Given the description of an element on the screen output the (x, y) to click on. 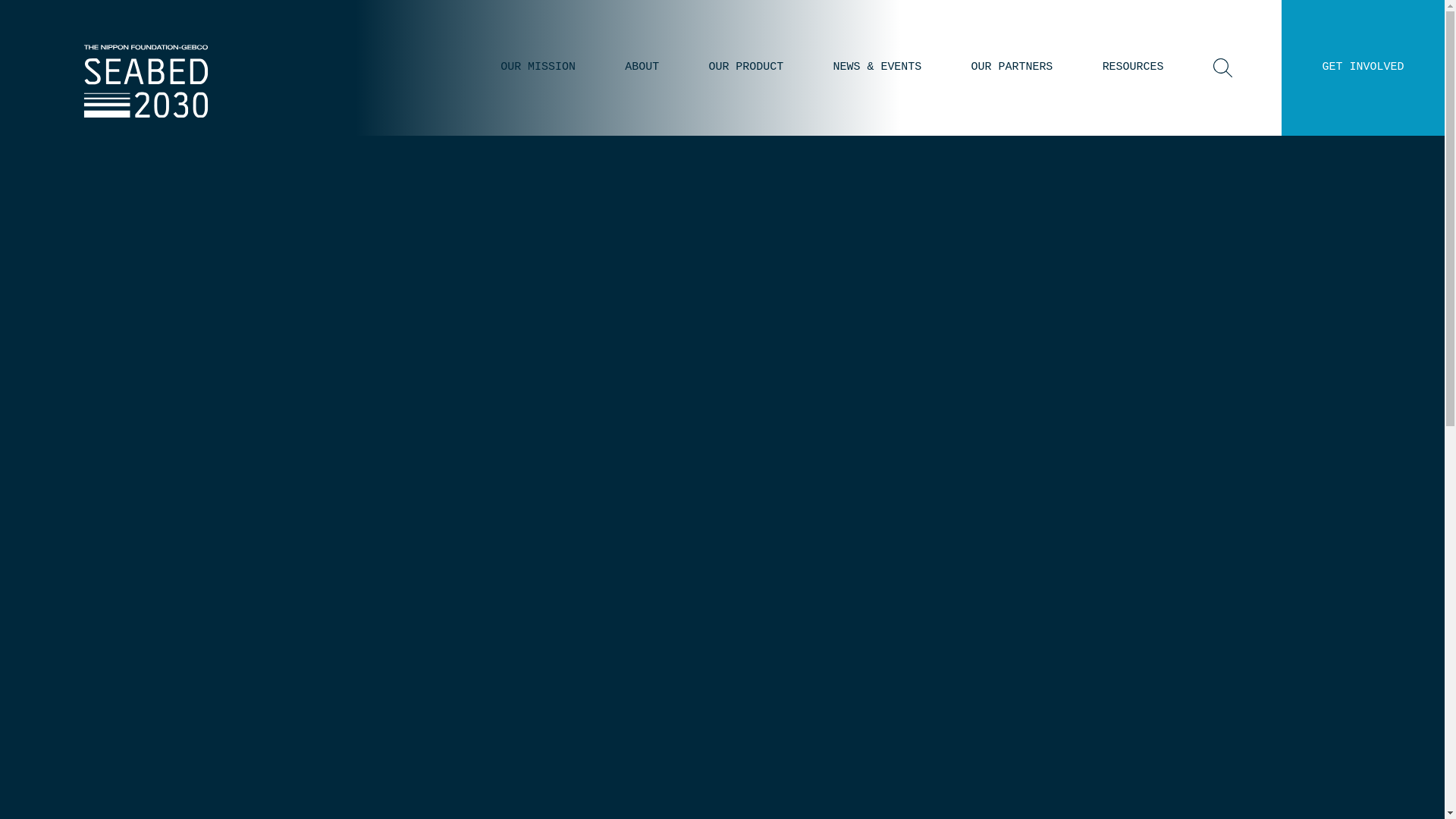
ABOUT (641, 67)
OUR MISSION (537, 67)
RESOURCES (1132, 67)
OUR PARTNERS (1011, 67)
OUR PRODUCT (745, 67)
GET INVOLVED (1363, 67)
